Given the description of an element on the screen output the (x, y) to click on. 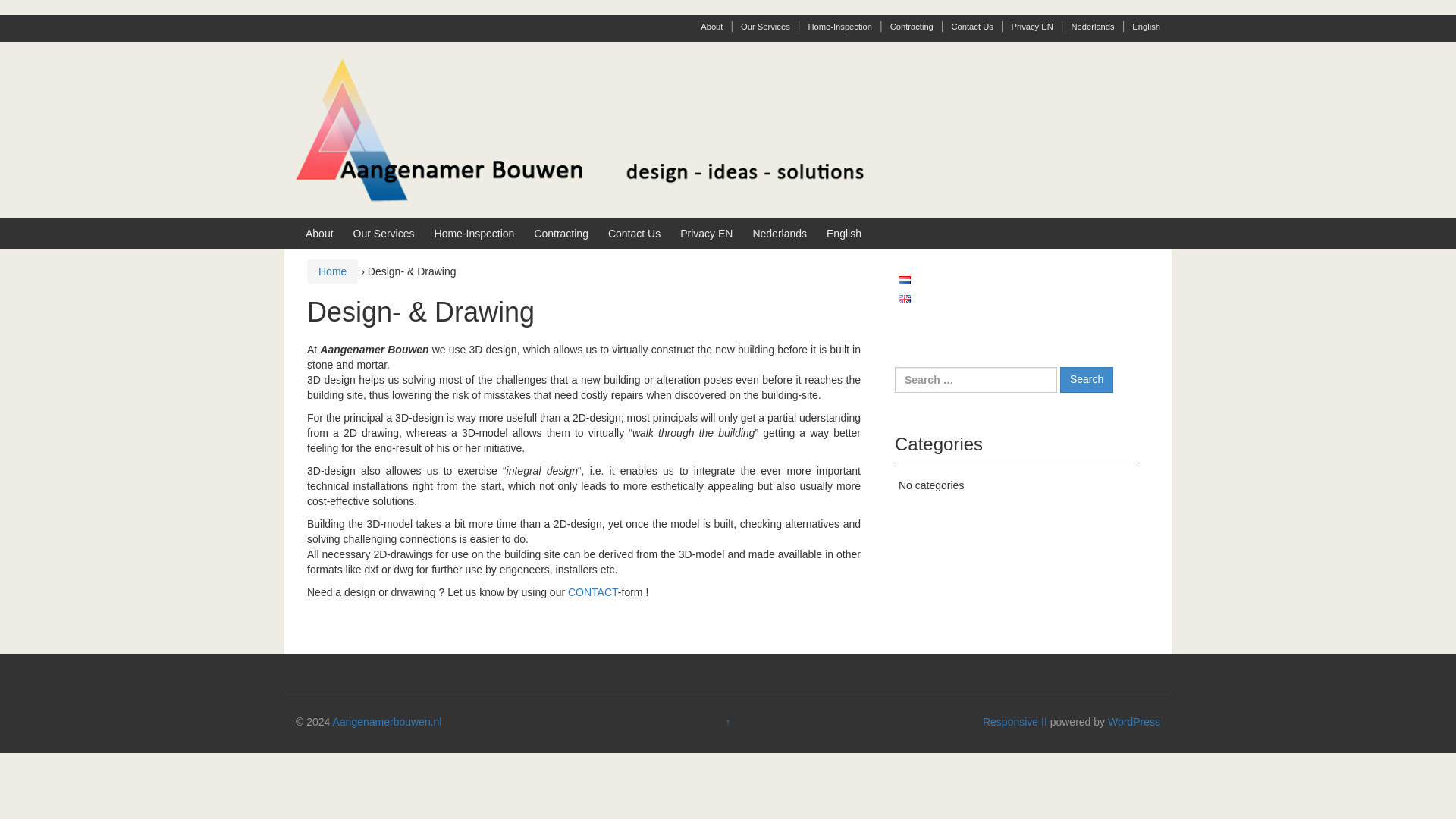
About (711, 26)
About (319, 233)
Contracting (561, 233)
Contact Us (634, 233)
Contact Us (971, 26)
Search (1086, 379)
Home-Inspection (840, 26)
English (1146, 26)
Privacy EN (705, 233)
Aangenamerbouwen.nl (579, 128)
